Given the description of an element on the screen output the (x, y) to click on. 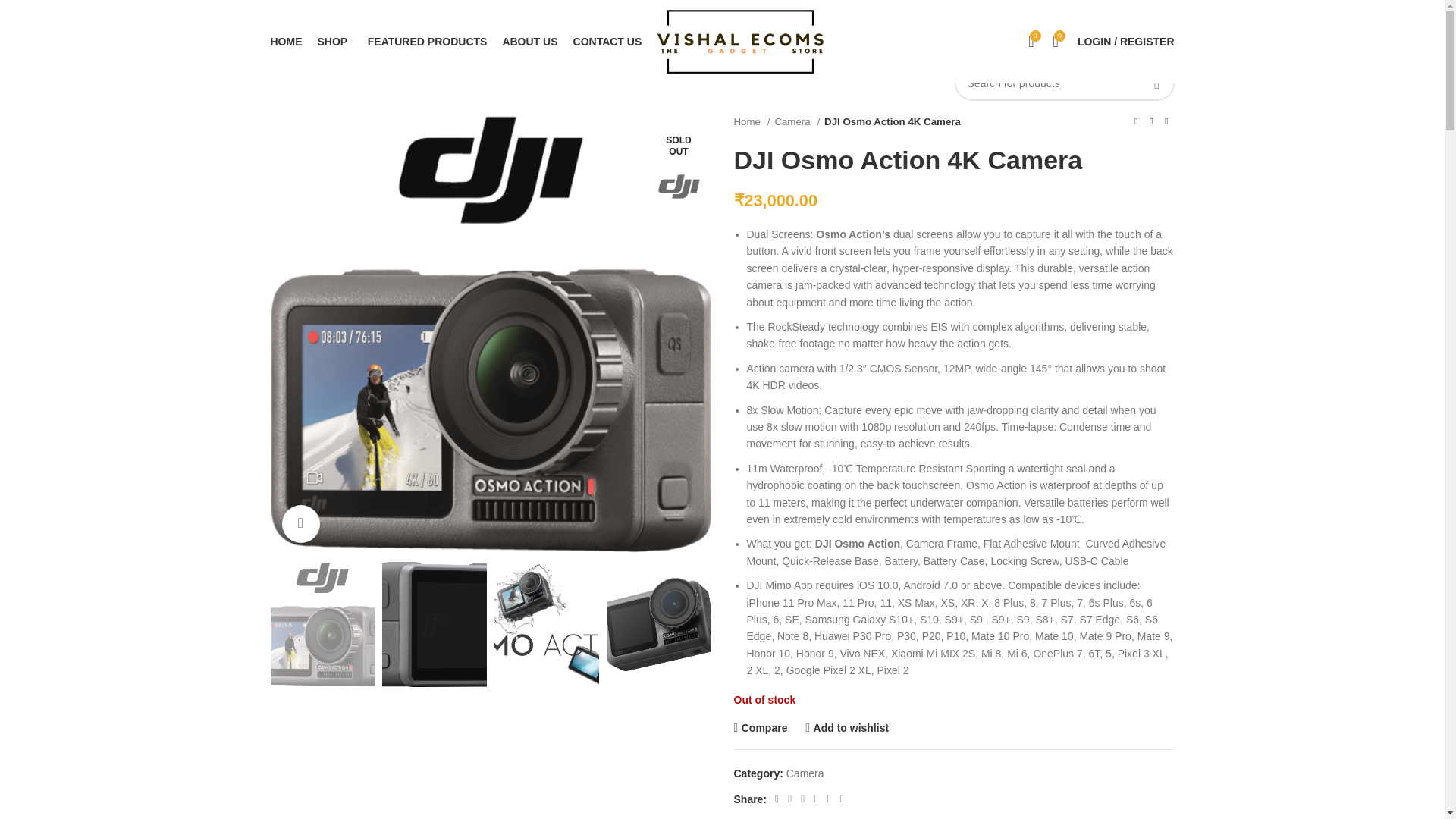
HOME (285, 41)
SHOP (334, 41)
